Given the description of an element on the screen output the (x, y) to click on. 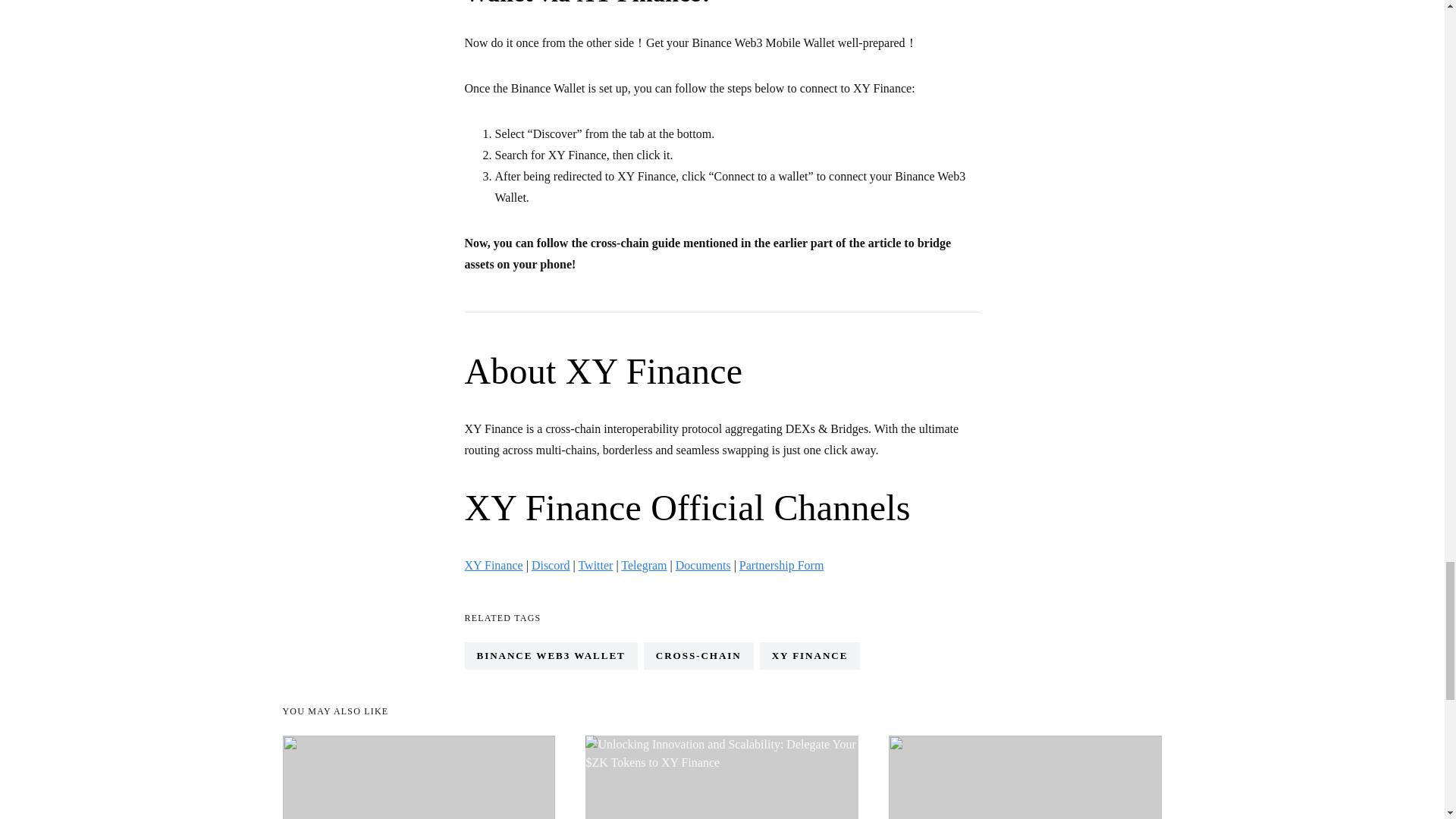
Partnership Form (781, 564)
Twitter (595, 564)
XY Finance (493, 564)
Documents (702, 564)
Discord (550, 564)
Telegram (643, 564)
